Given the description of an element on the screen output the (x, y) to click on. 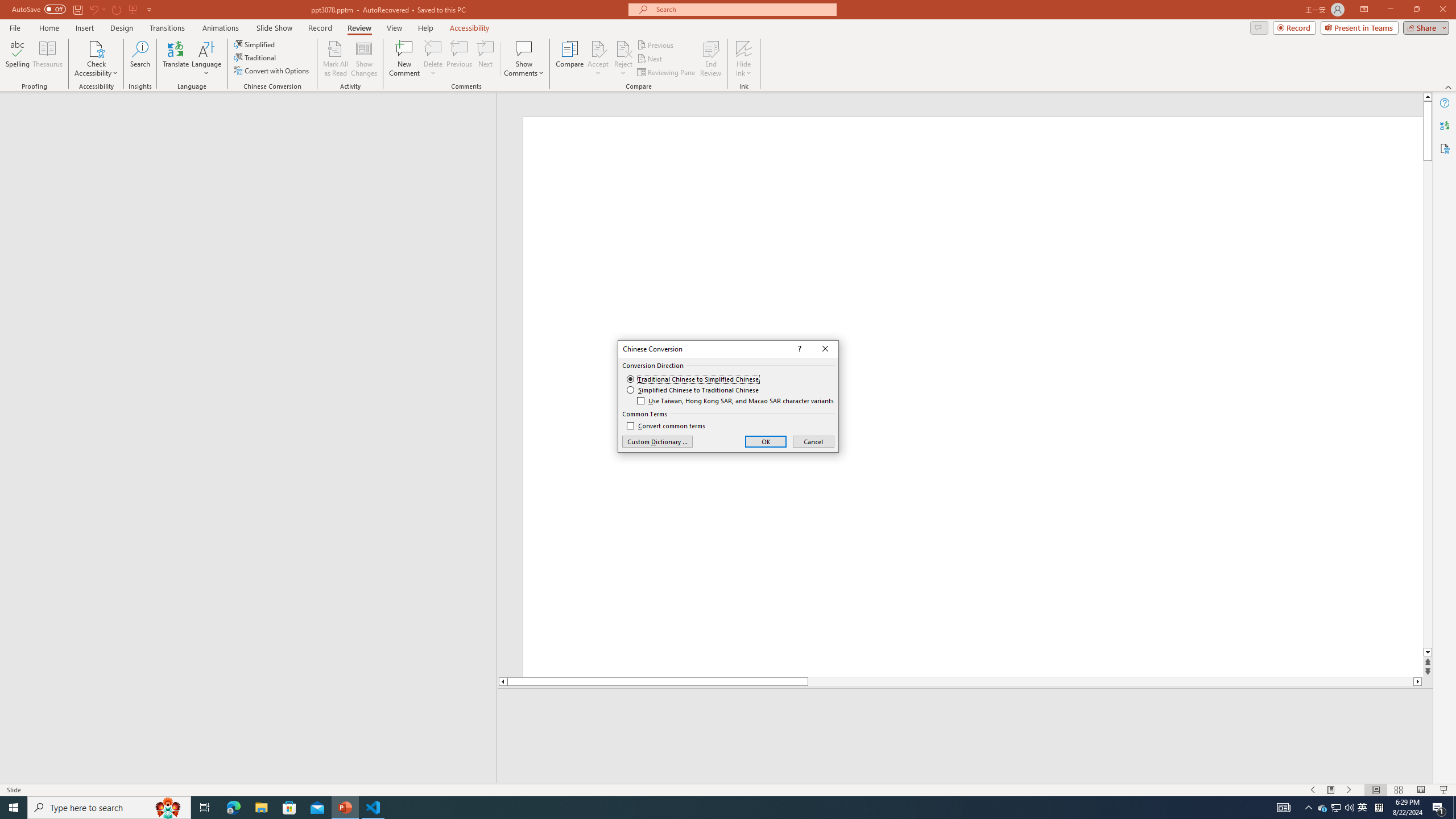
Convert common terms (666, 425)
Reject (622, 58)
Simplified Chinese to Traditional Chinese (693, 389)
Custom Dictionary ... (657, 440)
